Given the description of an element on the screen output the (x, y) to click on. 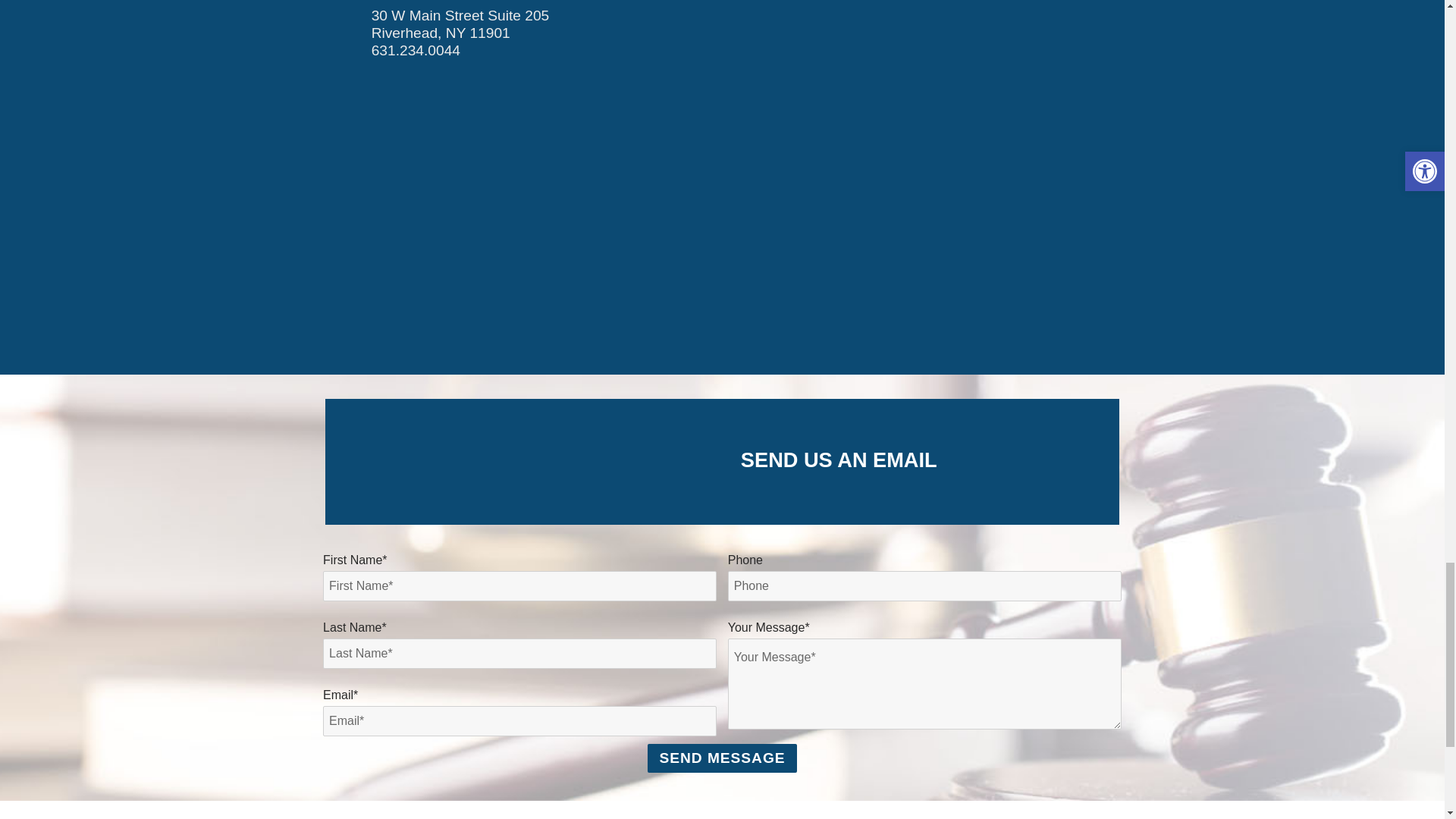
Send Message (721, 758)
